Given the description of an element on the screen output the (x, y) to click on. 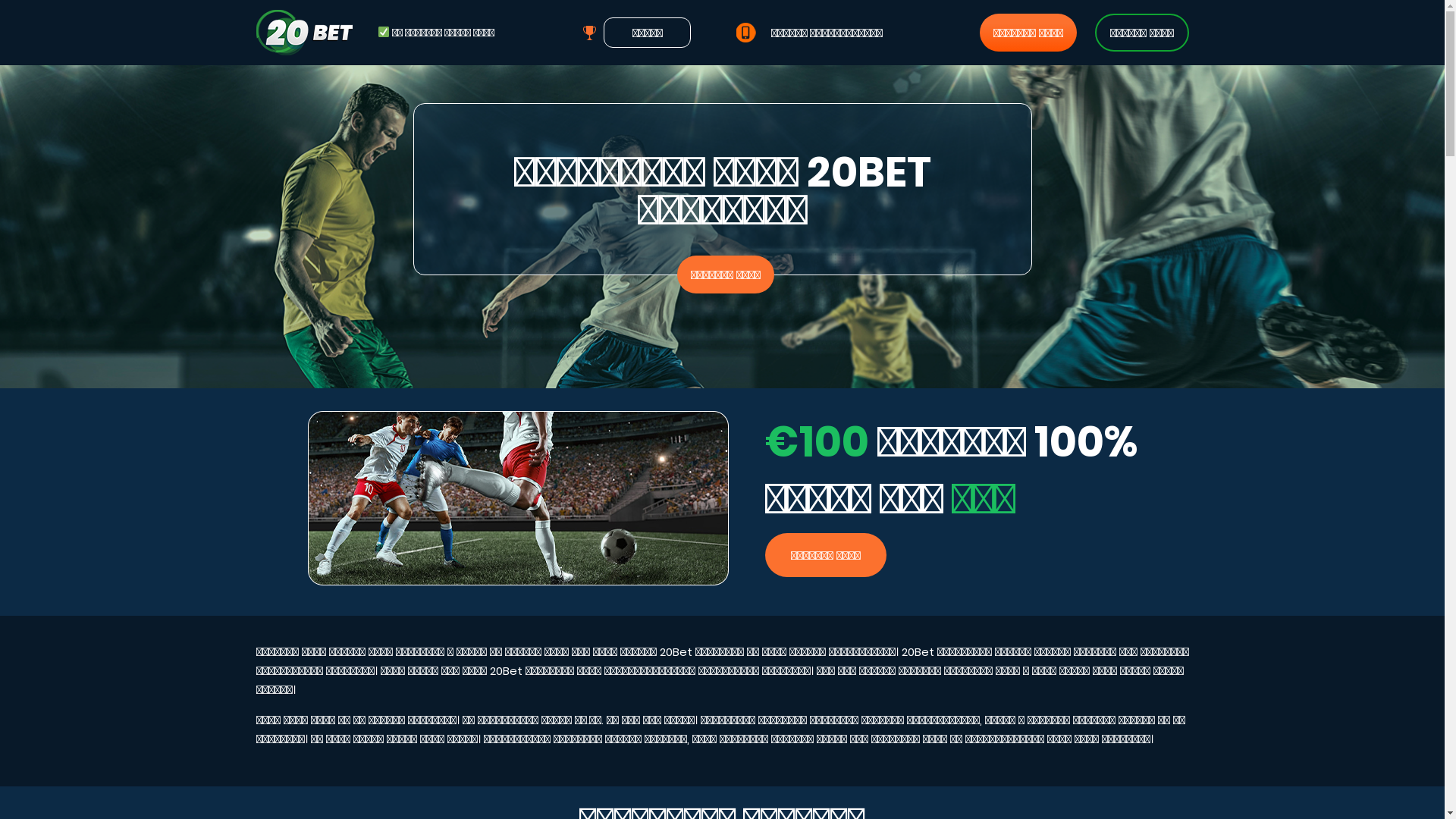
20Bet Bangladesh Element type: hover (722, 226)
